Given the description of an element on the screen output the (x, y) to click on. 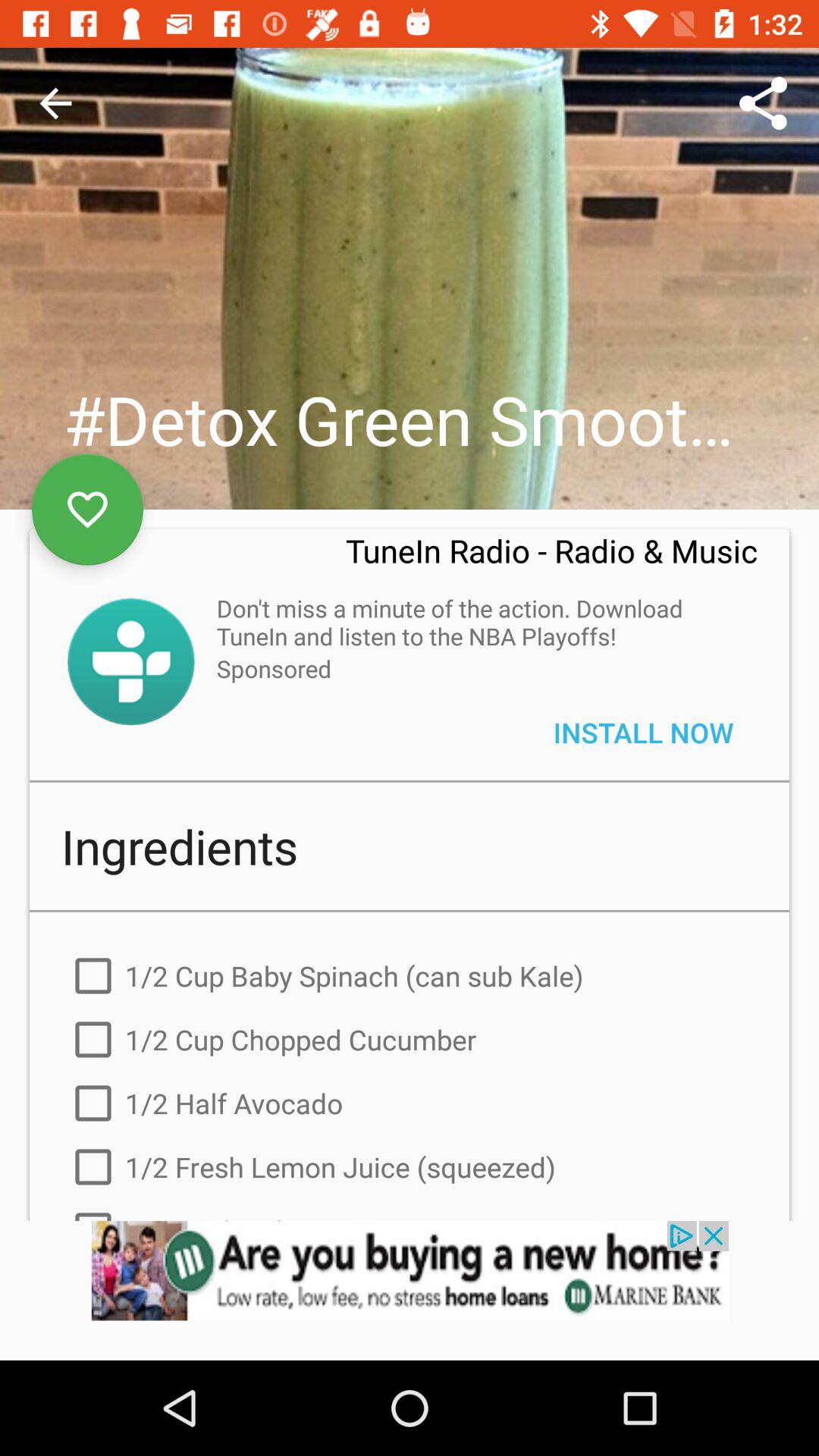
click heart to favorite (87, 509)
